Given the description of an element on the screen output the (x, y) to click on. 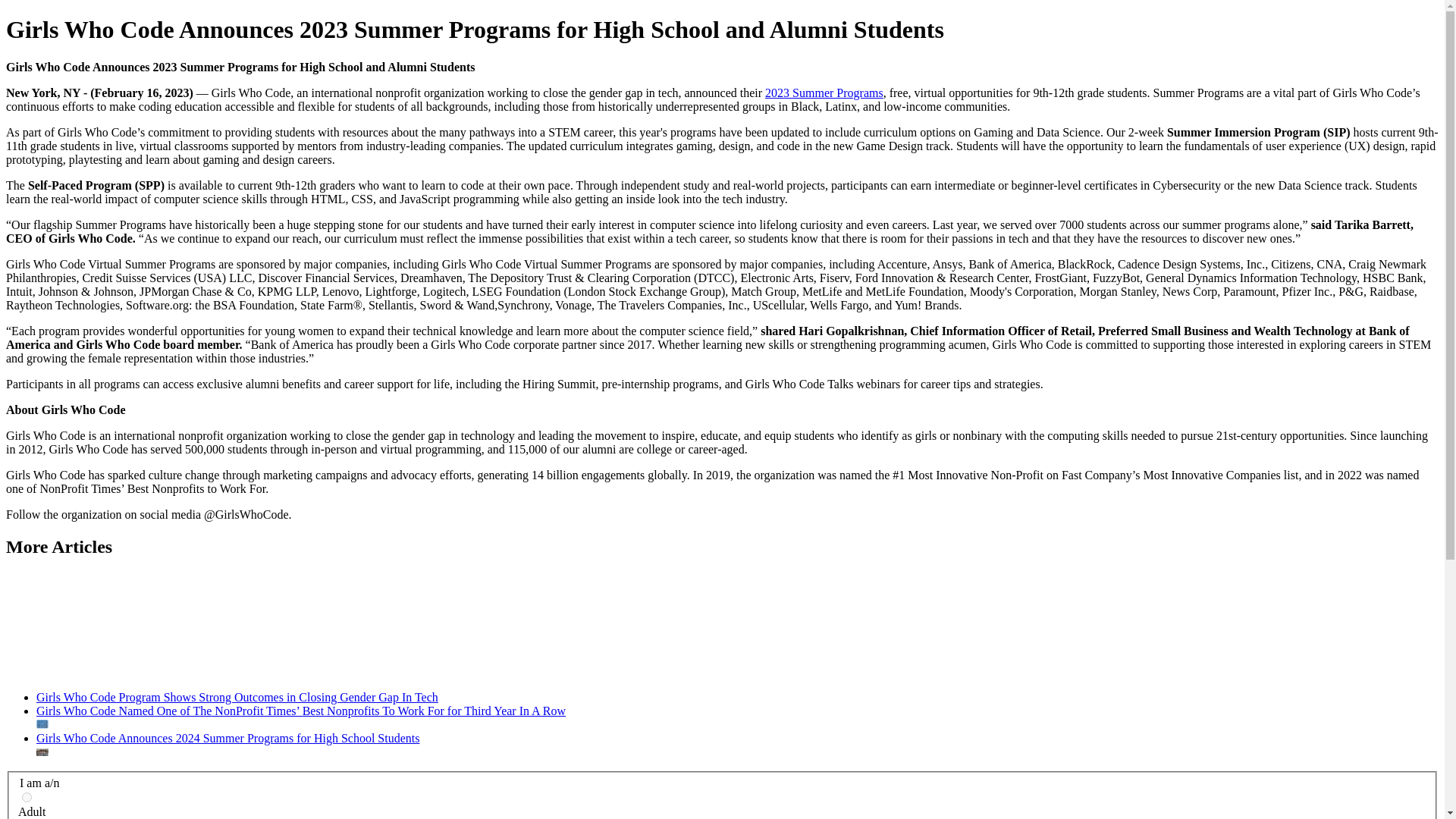
2023 Summer Programs (824, 92)
on (26, 797)
